Given the description of an element on the screen output the (x, y) to click on. 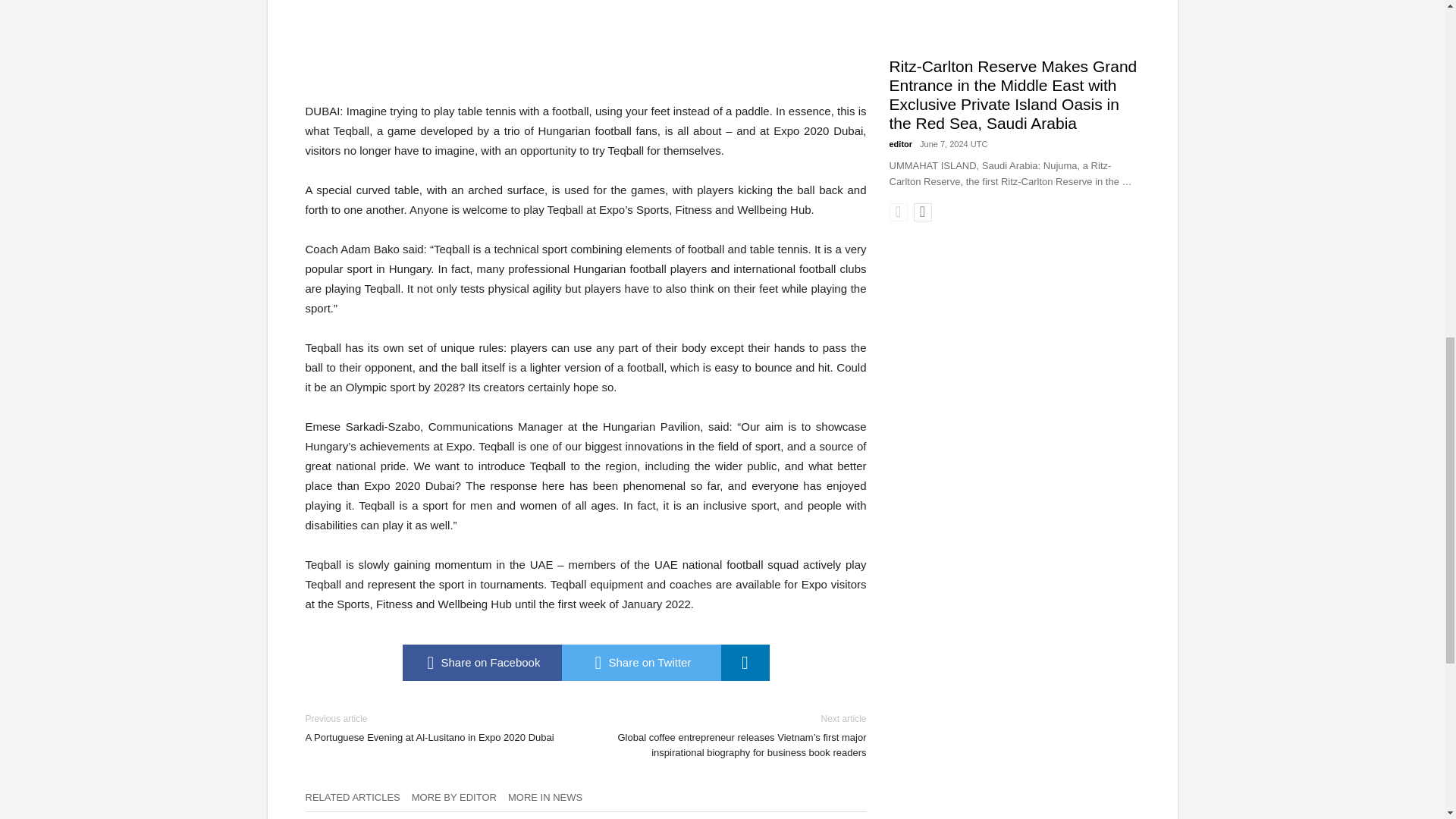
Share on Linkedin (744, 662)
RELATED ARTICLES (357, 801)
Share on Facebook (480, 662)
MORE BY EDITOR (460, 801)
Share on Twitter (640, 662)
